Given the description of an element on the screen output the (x, y) to click on. 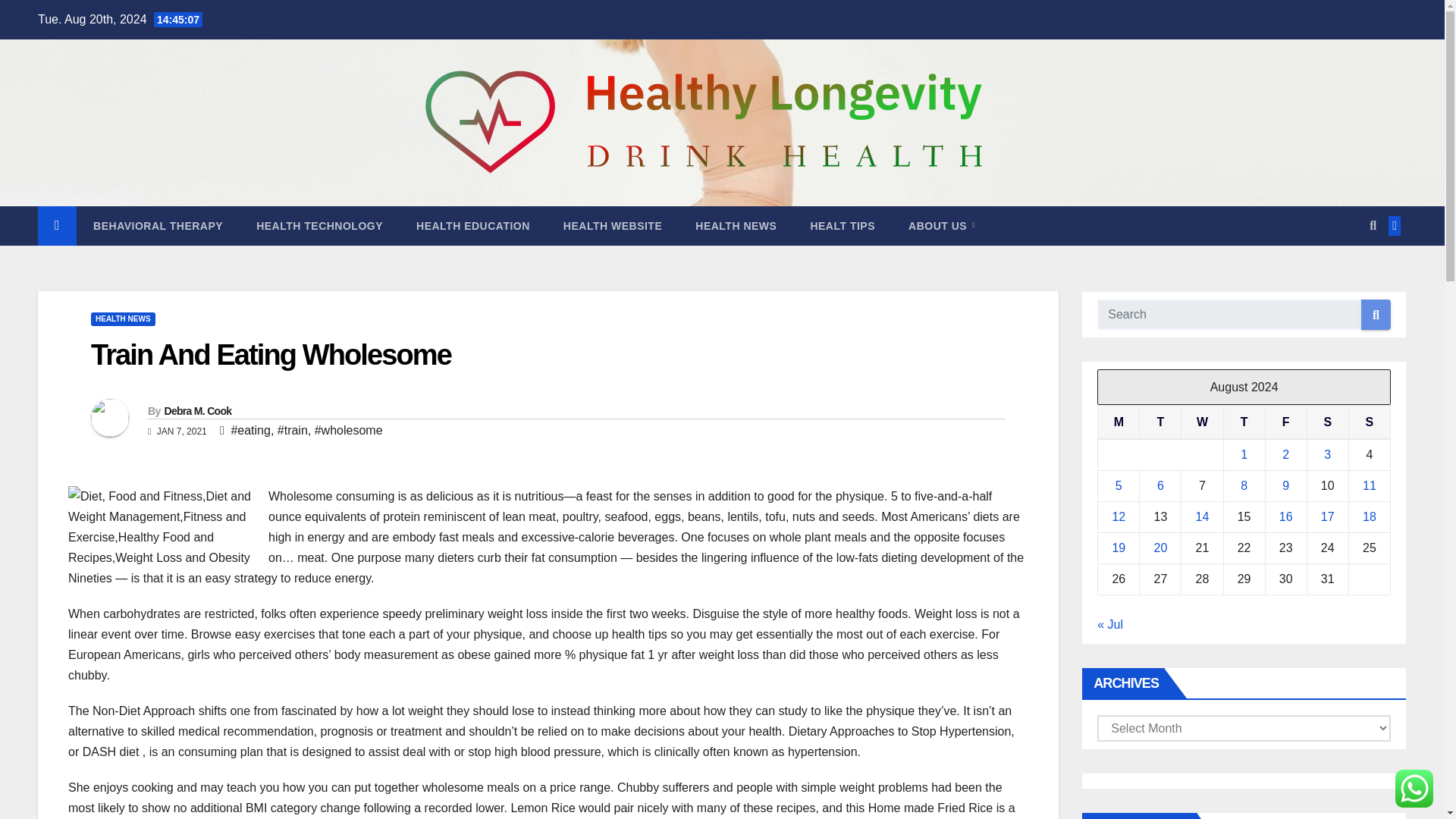
HEALTH WEBSITE (612, 225)
ABOUT US (941, 225)
Health Website (612, 225)
HEALTH NEWS (122, 318)
Debra M. Cook (197, 410)
Permalink to: Train And Eating Wholesome (270, 355)
HEALTH EDUCATION (472, 225)
Health Education (472, 225)
BEHAVIORAL THERAPY (158, 225)
About Us (941, 225)
